Given the description of an element on the screen output the (x, y) to click on. 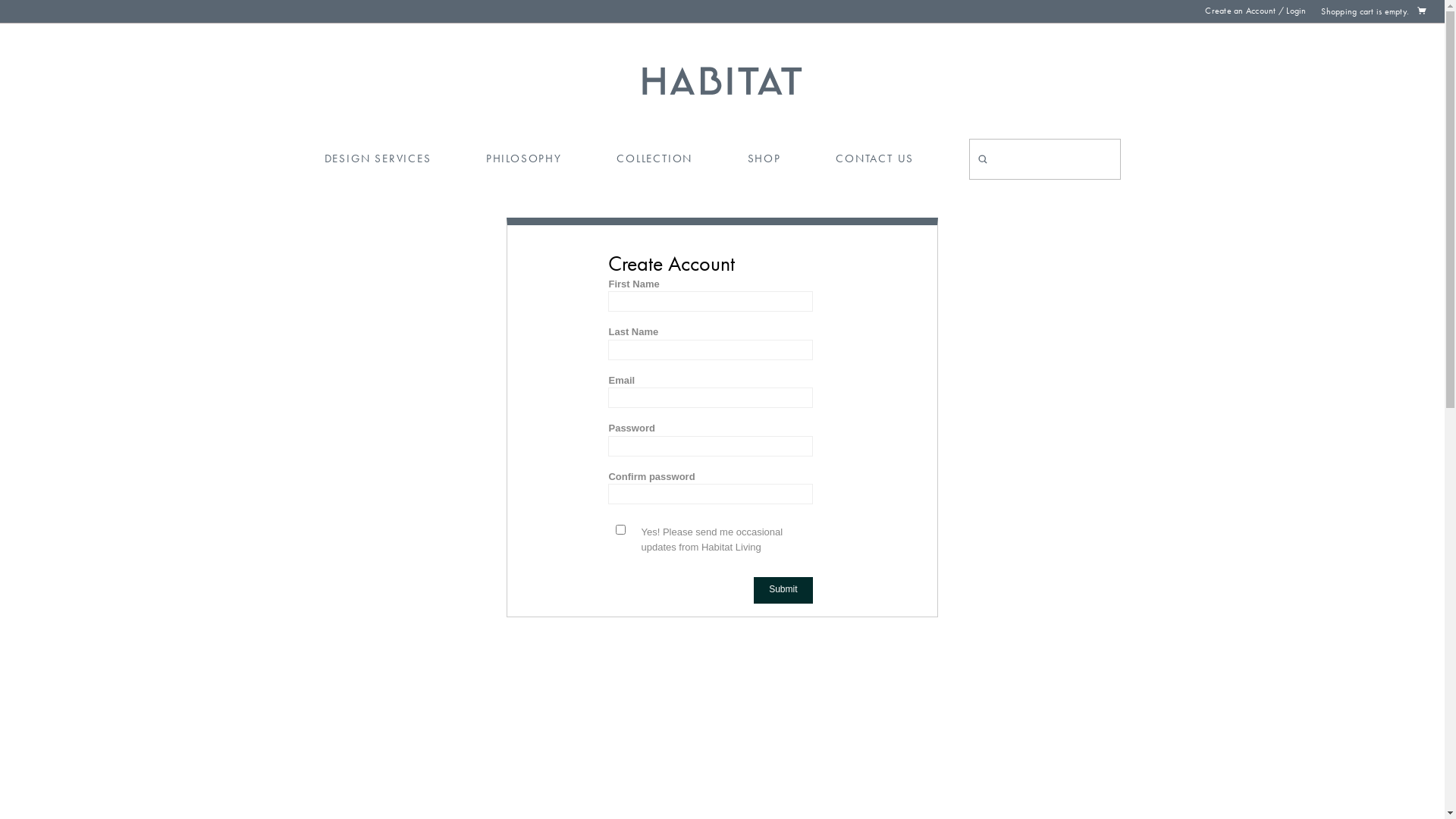
Login Element type: text (1295, 10)
COLLECTION Element type: text (654, 158)
CONTACT US Element type: text (874, 158)
Search Element type: text (1119, 138)
DESIGN SERVICES Element type: text (377, 158)
SHOP Element type: text (764, 158)
Submit Element type: text (782, 590)
PHILOSOPHY Element type: text (523, 158)
Create an Account Element type: text (1239, 10)
